Given the description of an element on the screen output the (x, y) to click on. 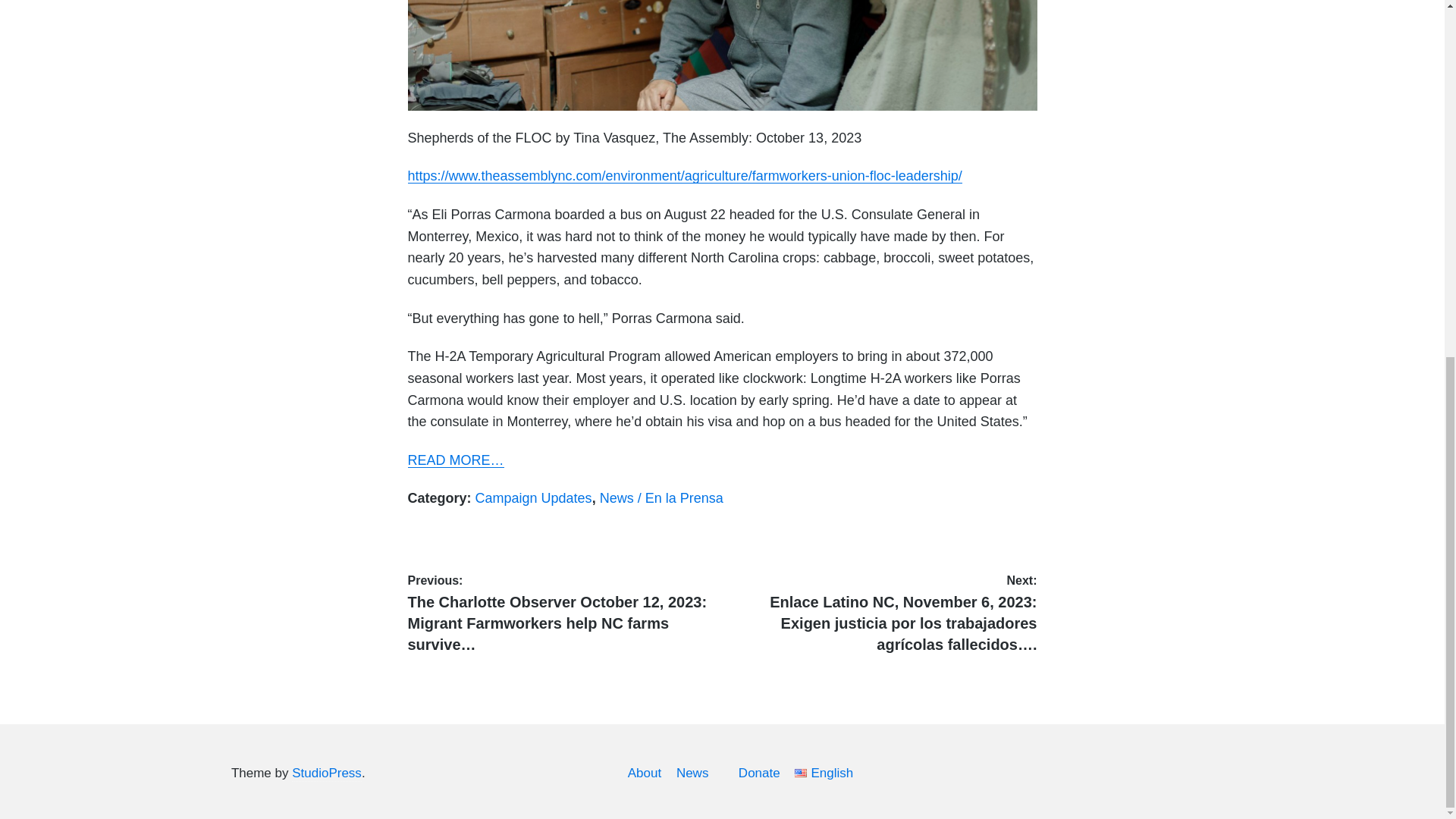
Campaign Updates (534, 498)
About (644, 772)
Donate (759, 772)
News (693, 772)
StudioPress (326, 773)
